Given the description of an element on the screen output the (x, y) to click on. 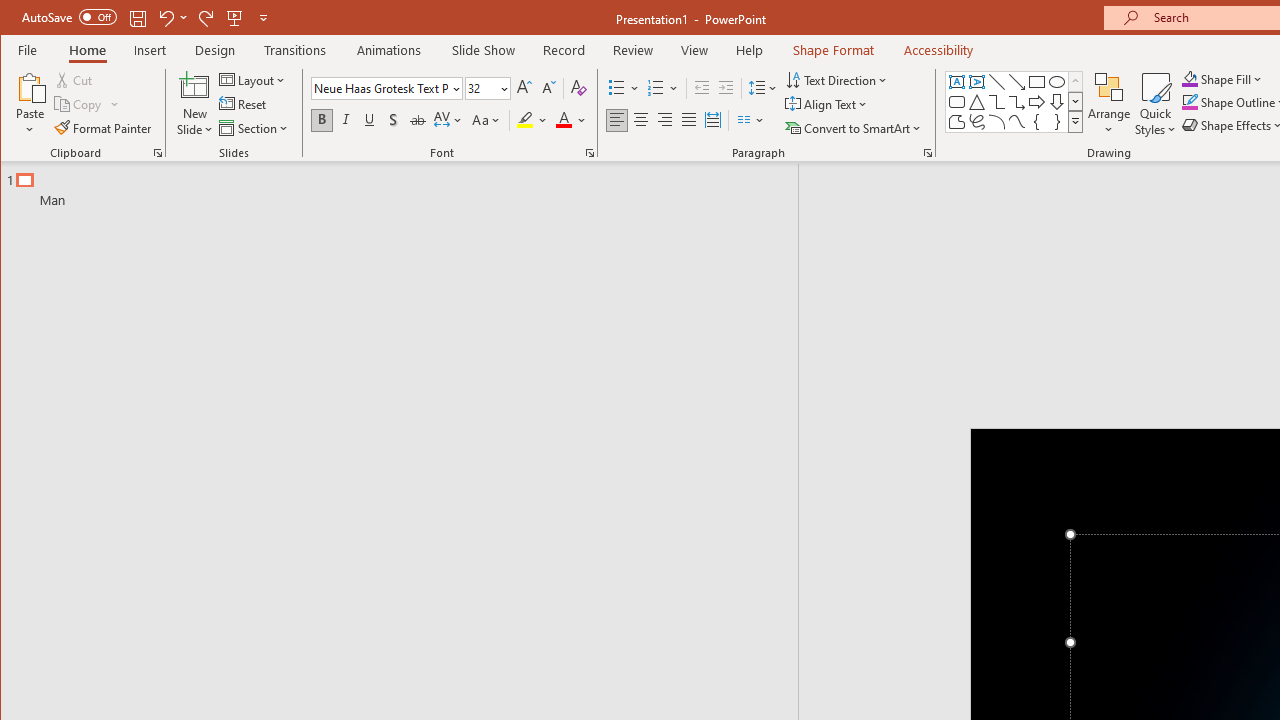
Shape Fill (1222, 78)
Curve (1016, 121)
Shapes (1074, 121)
Align Right (664, 119)
Left Brace (1036, 121)
Shape Format (833, 50)
